Given the description of an element on the screen output the (x, y) to click on. 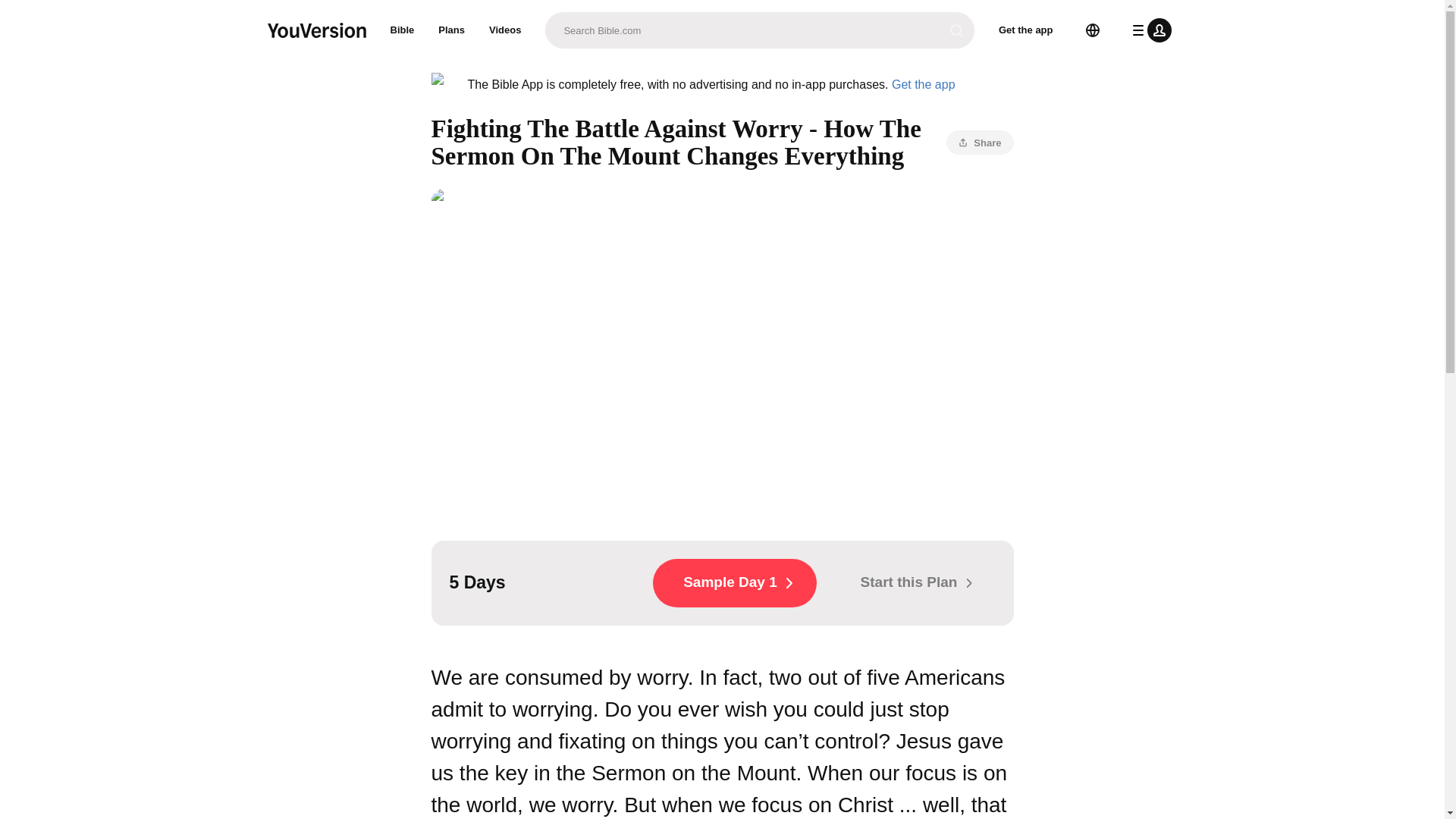
Bible Icon (442, 84)
Videos (504, 29)
Start this Plan (911, 582)
Sample Day 1 (734, 582)
Get the app (1026, 29)
Share (979, 142)
Bible (401, 29)
Plans (451, 29)
Get the app (923, 83)
